Given the description of an element on the screen output the (x, y) to click on. 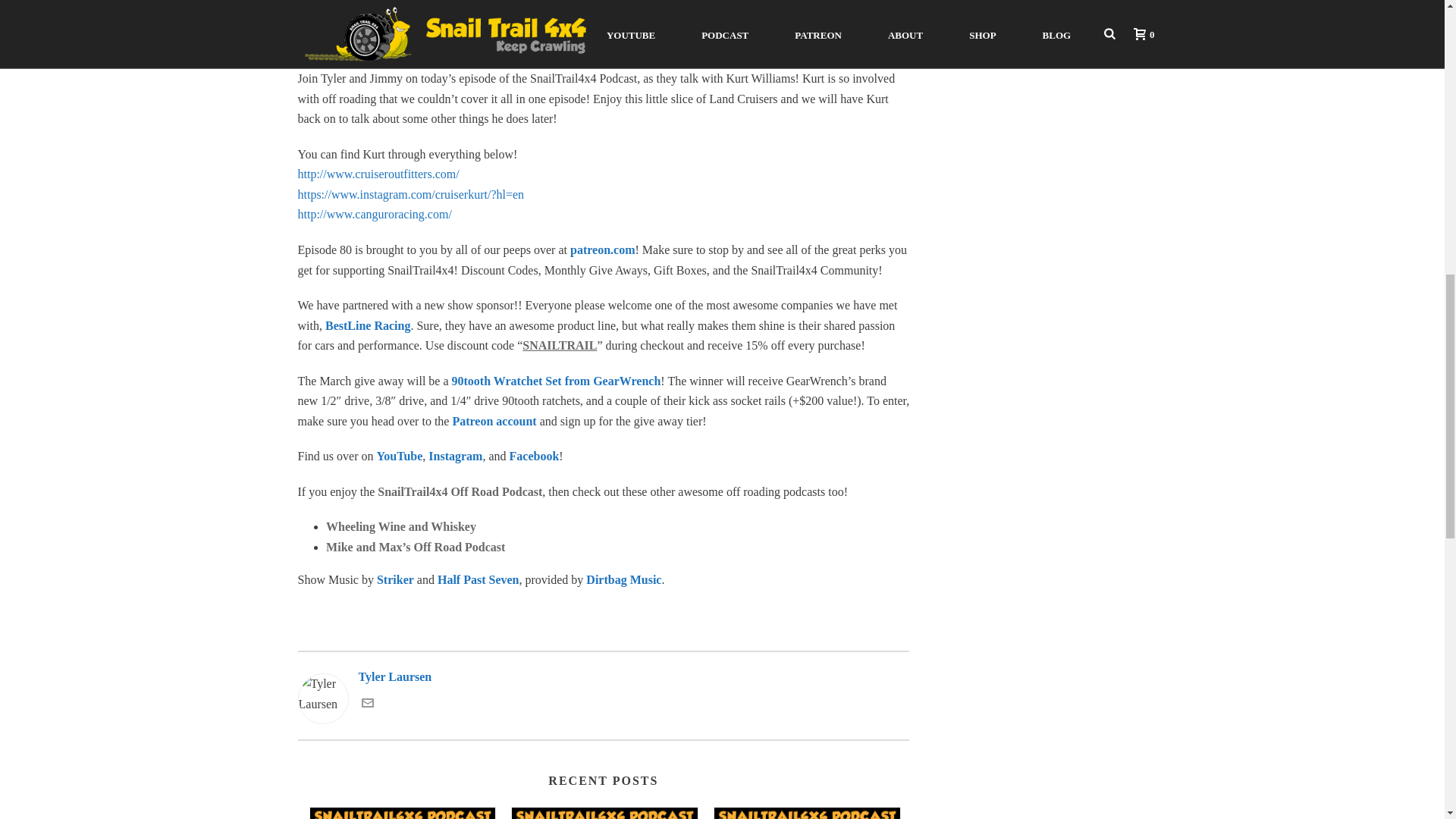
SnailMail: Rubicon Dog (401, 813)
Get in touch with me via email (366, 704)
